Given the description of an element on the screen output the (x, y) to click on. 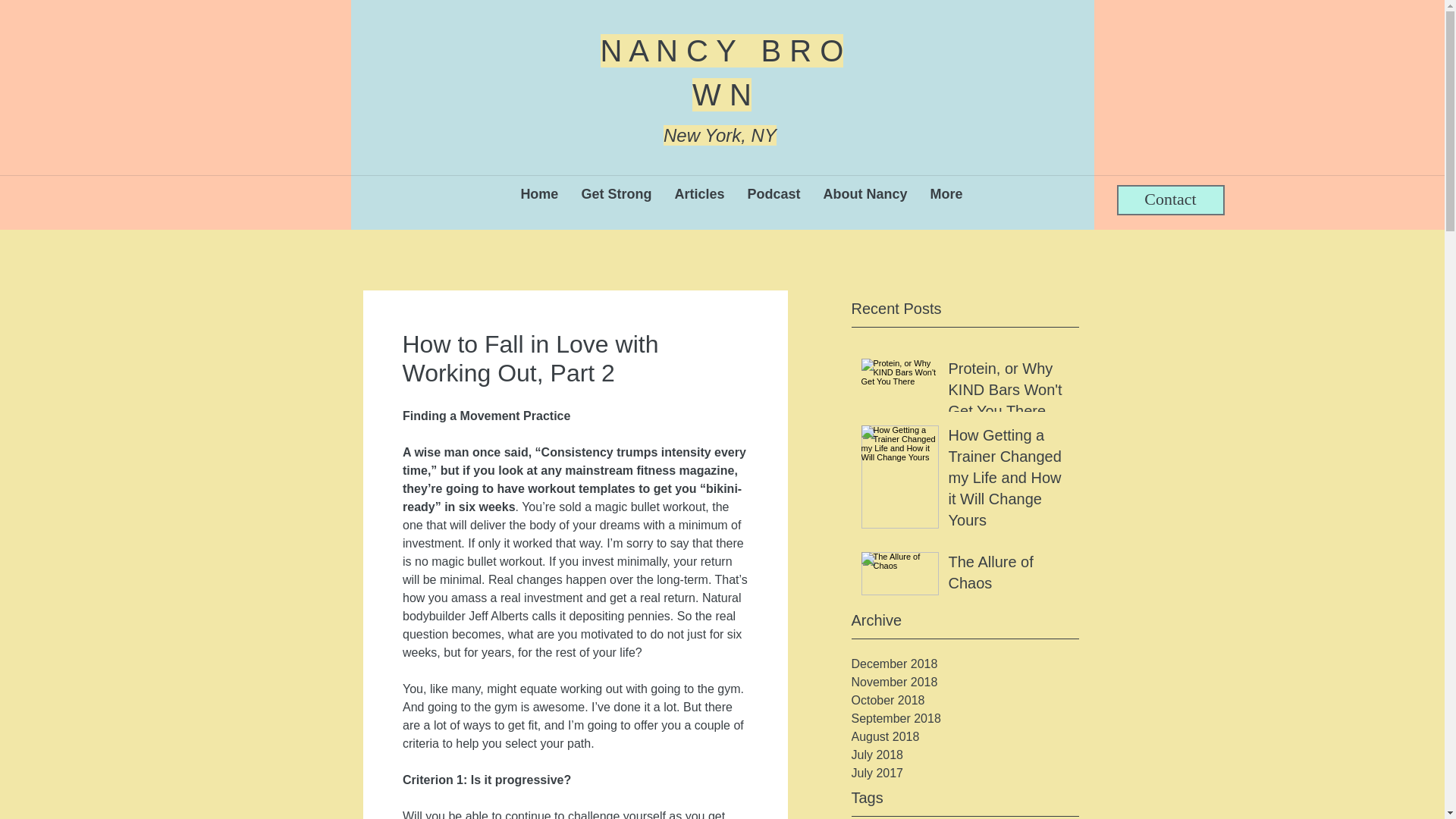
Articles (698, 196)
About Nancy (864, 196)
October 2018 (964, 700)
Podcast (772, 196)
Home (538, 196)
December 2018 (964, 664)
The Allure of Chaos (1007, 575)
Get Strong (615, 196)
November 2018 (964, 682)
